Given the description of an element on the screen output the (x, y) to click on. 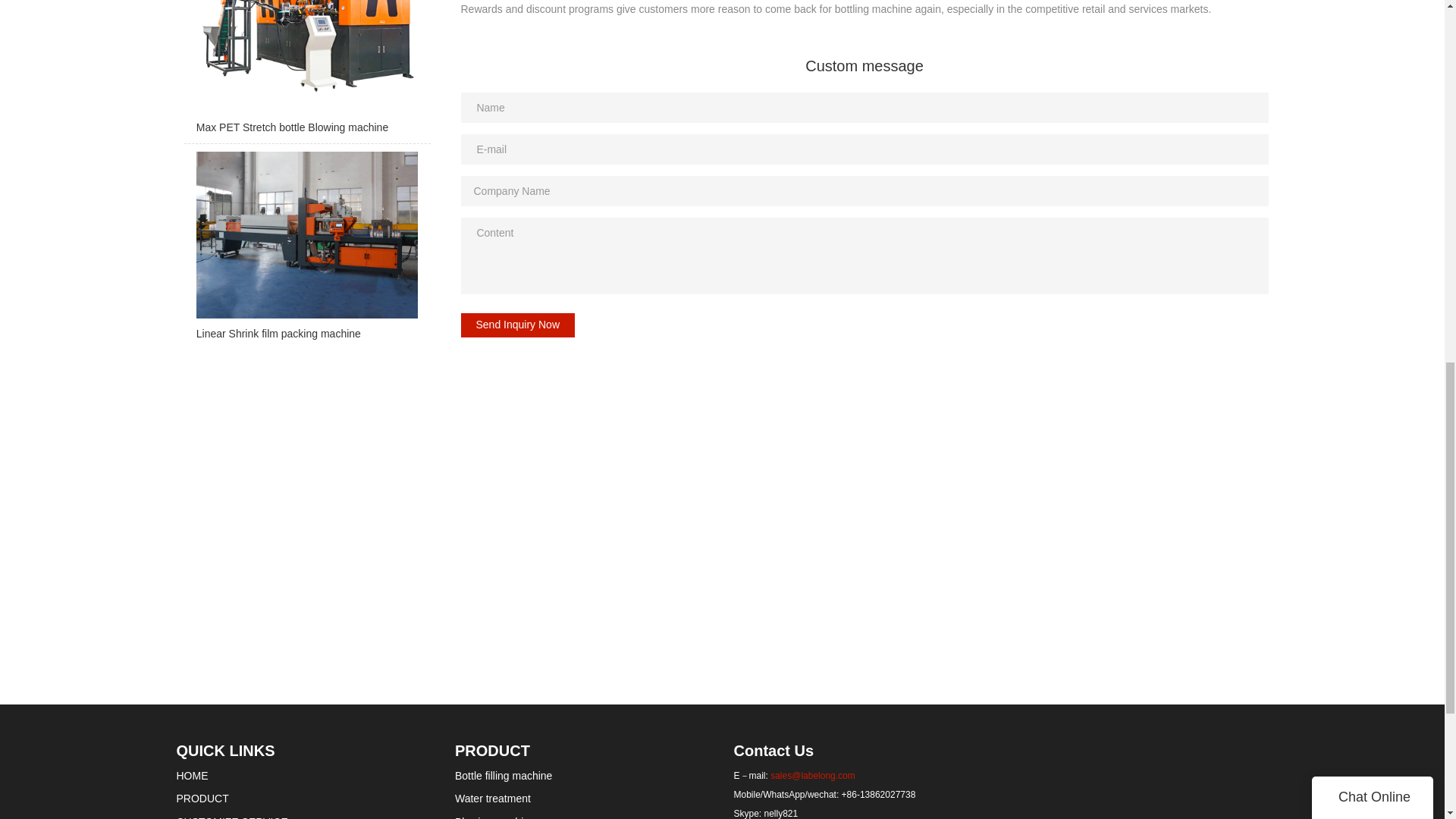
Max PET Stretch bottle Blowing machine (306, 72)
Linear Shrink film packing machine (306, 250)
Send Inquiry Now (518, 324)
